Given the description of an element on the screen output the (x, y) to click on. 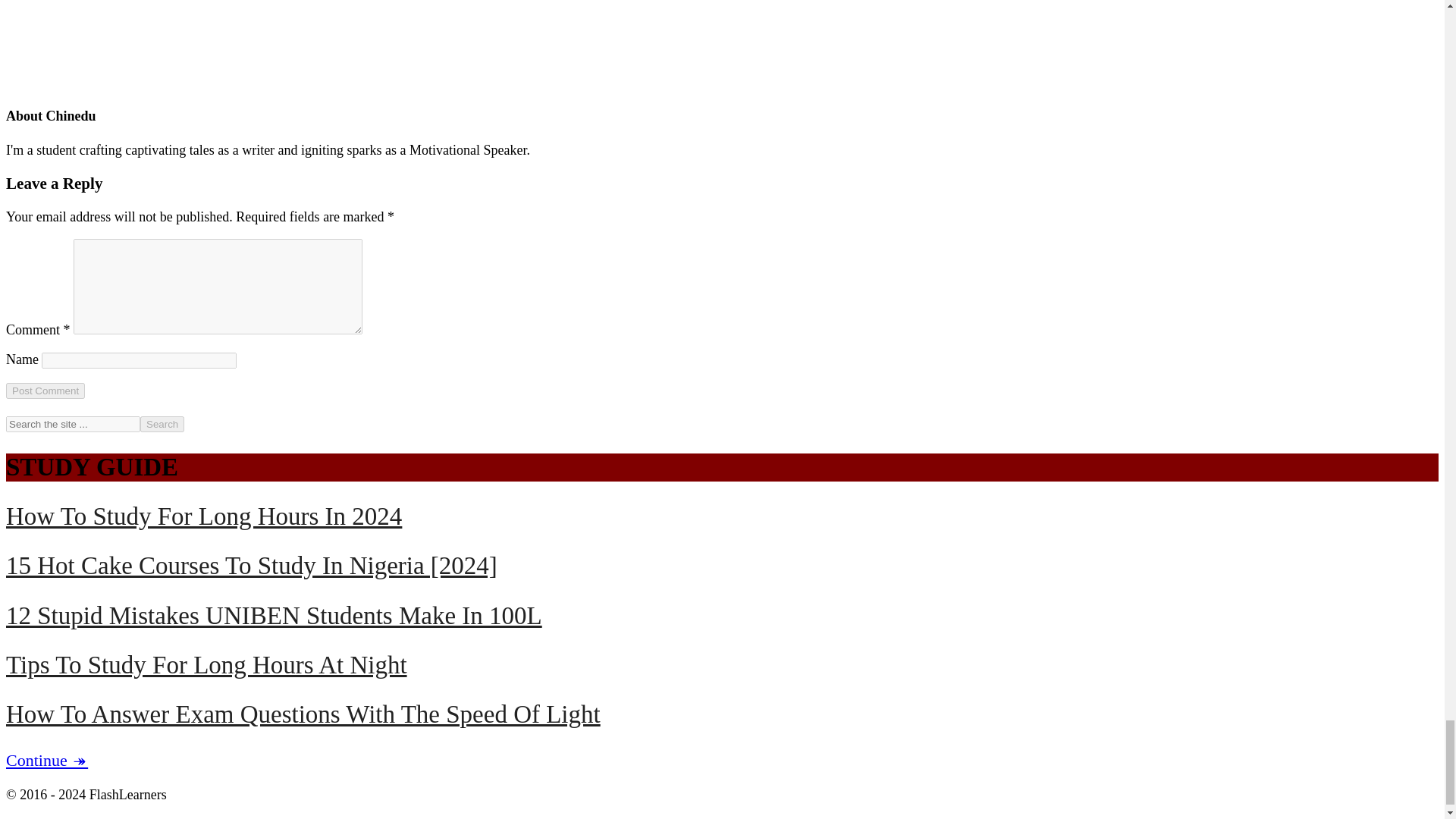
12 Stupid Mistakes UNIBEN Students Make In 100L (273, 615)
Search (161, 424)
How To Answer Exam Questions With The Speed Of Light (302, 714)
How To Study For Long Hours In 2024 (203, 515)
Search (161, 424)
Tips To Study For Long Hours At Night (206, 664)
Post Comment (44, 390)
Search (161, 424)
Post Comment (44, 390)
Study (46, 760)
